Given the description of an element on the screen output the (x, y) to click on. 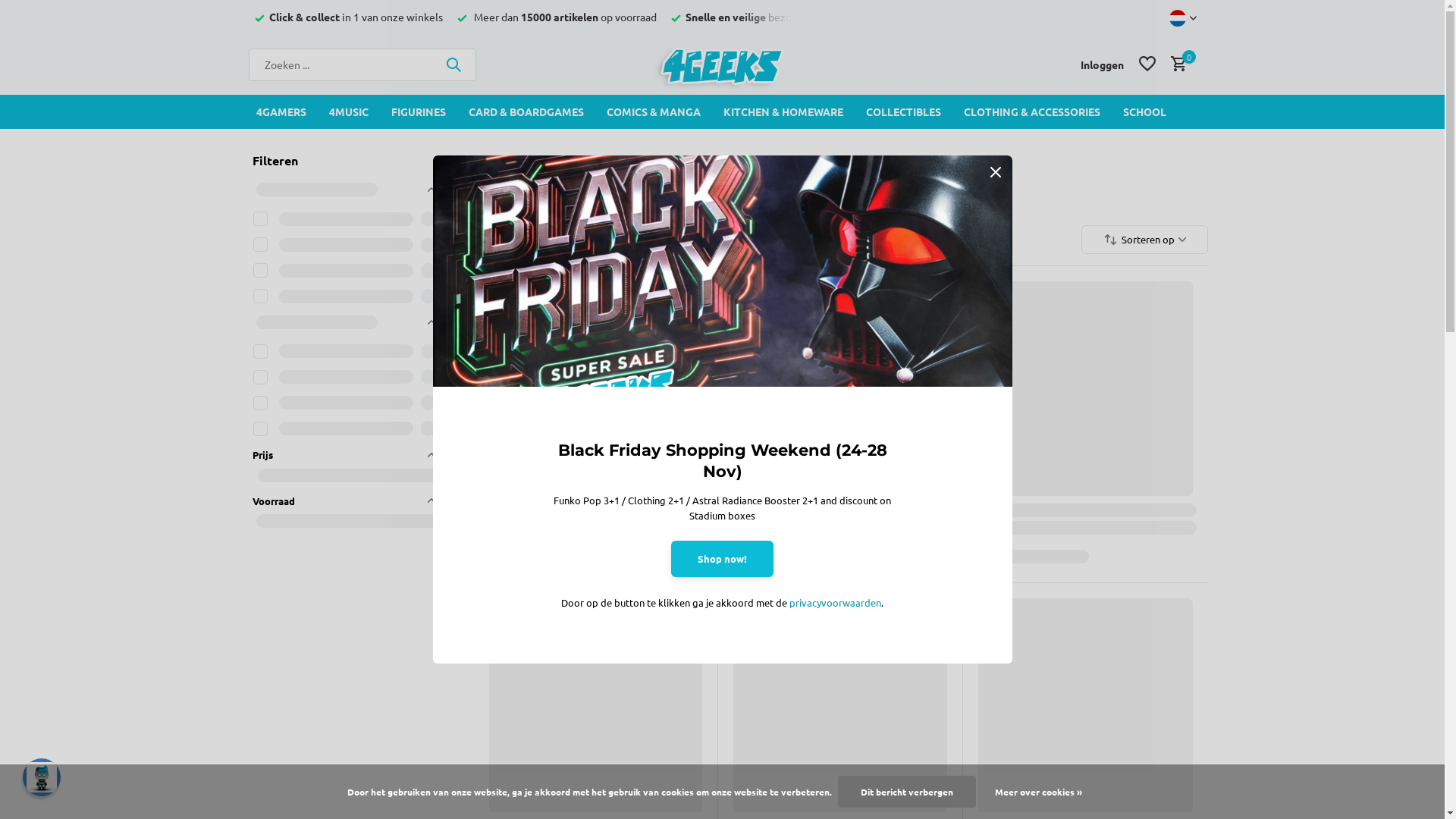
Inloggen Element type: text (1101, 64)
on Element type: text (260, 270)
on Element type: text (260, 351)
on Element type: text (260, 402)
on Element type: text (260, 428)
0 Element type: text (1174, 64)
4GAMERS Element type: text (281, 111)
FIGURINES Element type: text (418, 111)
KITCHEN & HOMEWARE Element type: text (783, 111)
Dit bericht verbergen Element type: text (906, 791)
COMICS & MANGA Element type: text (653, 111)
Verlanglijst Element type: text (1147, 64)
4MUSIC Element type: text (348, 111)
on Element type: text (260, 218)
on Element type: text (260, 377)
4GEEKS Element type: hover (721, 64)
COLLECTIBLES Element type: text (903, 111)
Zoeken Element type: hover (452, 64)
privacyvoorwaarden Element type: text (835, 602)
on Element type: text (260, 244)
on Element type: text (260, 295)
SCHOOL Element type: text (1143, 111)
CLOTHING & ACCESSORIES Element type: text (1031, 111)
Shop now! Element type: text (722, 558)
CARD & BOARDGAMES Element type: text (525, 111)
